Given the description of an element on the screen output the (x, y) to click on. 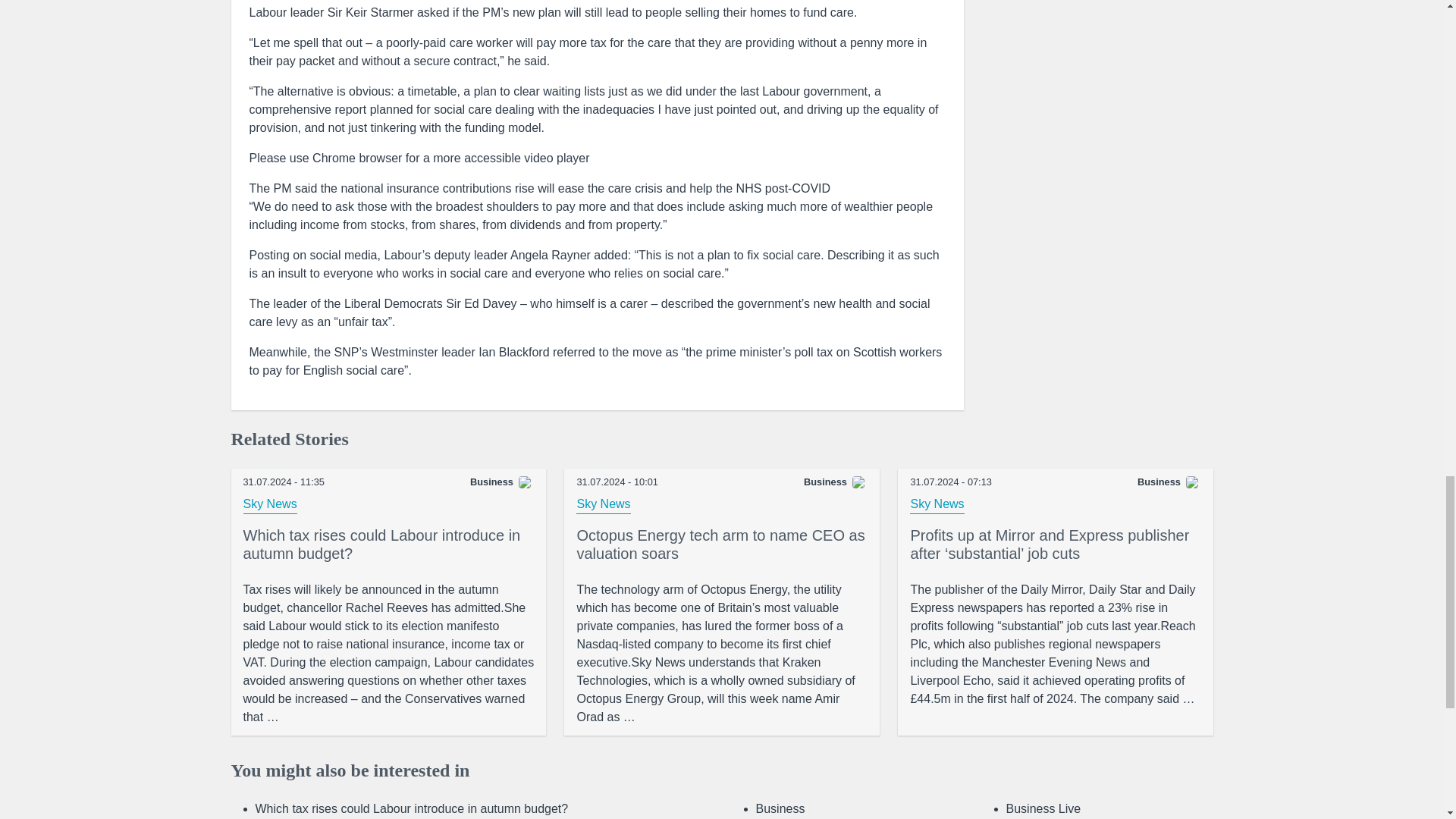
Sky News (270, 504)
Which tax rises could Labour introduce in autumn budget? (410, 808)
Octopus Energy tech arm to name CEO as valuation soars (721, 653)
Business Live (1043, 808)
Business (780, 808)
Which tax rises could Labour introduce in autumn budget? (388, 547)
Which tax rises could Labour introduce in autumn budget? (388, 653)
Octopus Energy tech arm to name CEO as valuation soars (721, 547)
Sky News (936, 504)
Sky News (603, 504)
Which tax rises could Labour introduce in autumn budget? (388, 547)
Octopus Energy tech arm to name CEO as valuation soars (721, 547)
